Given the description of an element on the screen output the (x, y) to click on. 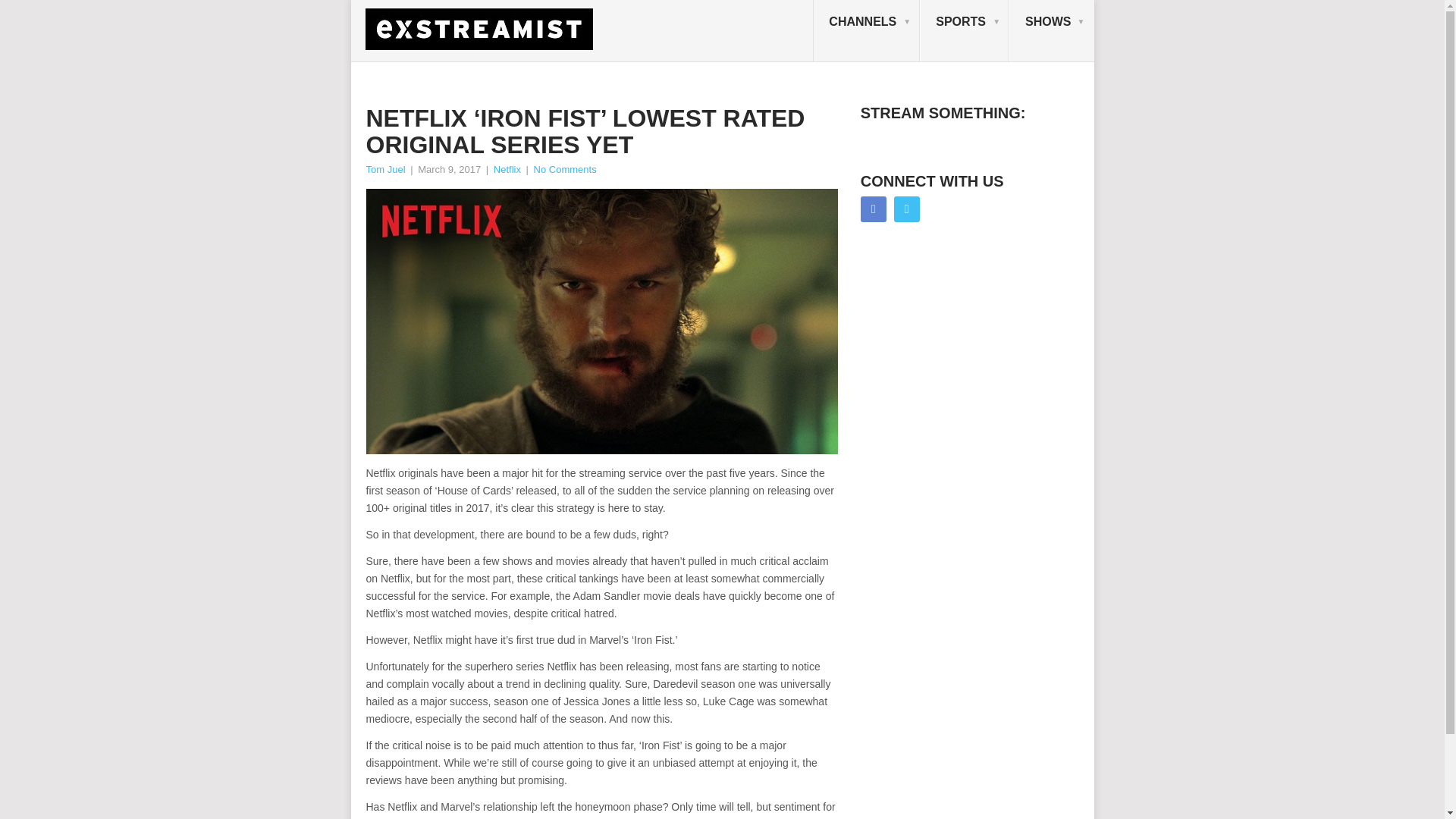
Twitter (906, 208)
CHANNELS (866, 31)
SPORTS (964, 31)
Watch Sports Online (964, 31)
Facebook (873, 208)
Posts by Tom Juel (384, 169)
Watch TV Shows Online (1051, 31)
Watch TV Channels Online (866, 31)
